Given the description of an element on the screen output the (x, y) to click on. 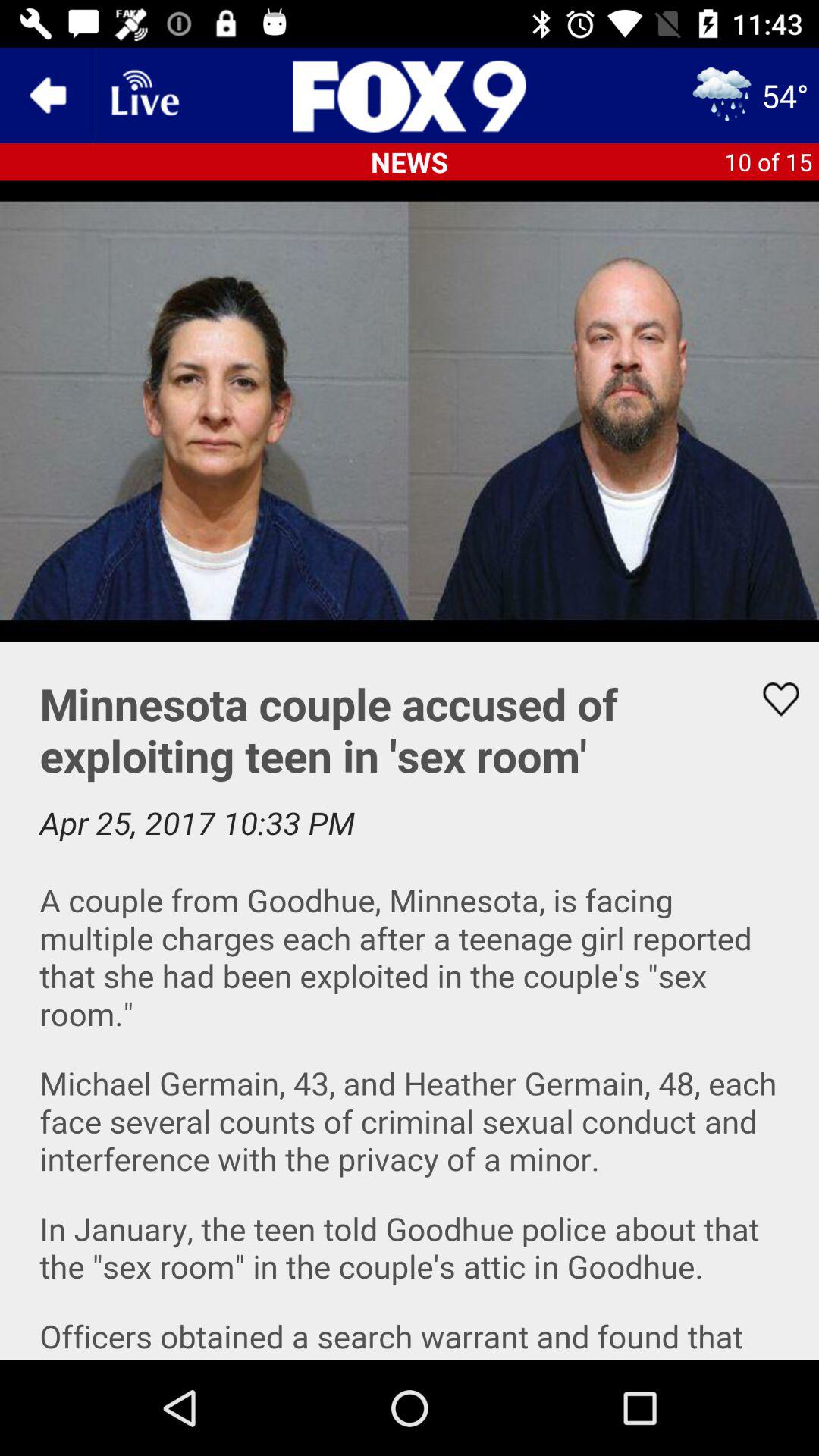
click to favorite (771, 699)
